Given the description of an element on the screen output the (x, y) to click on. 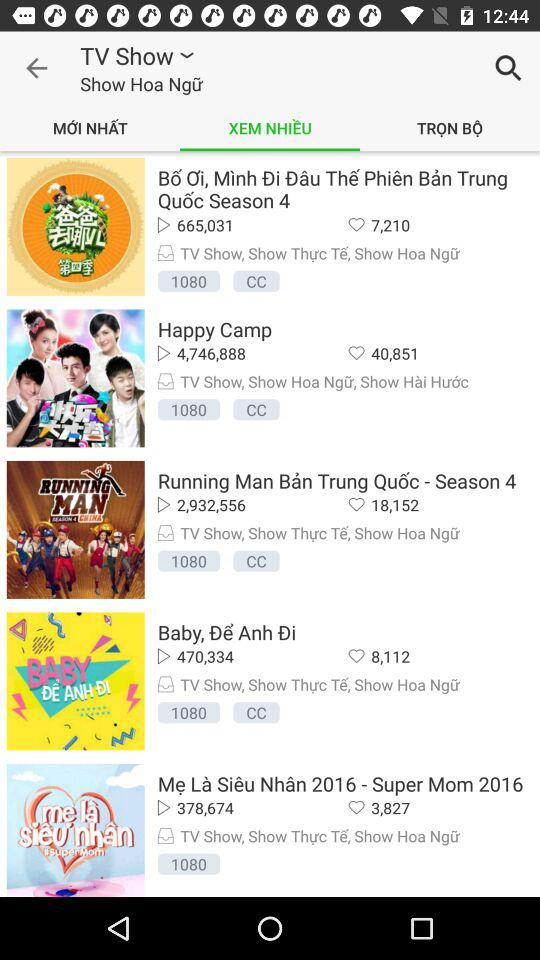
select item next to the tv show icon (36, 68)
